Given the description of an element on the screen output the (x, y) to click on. 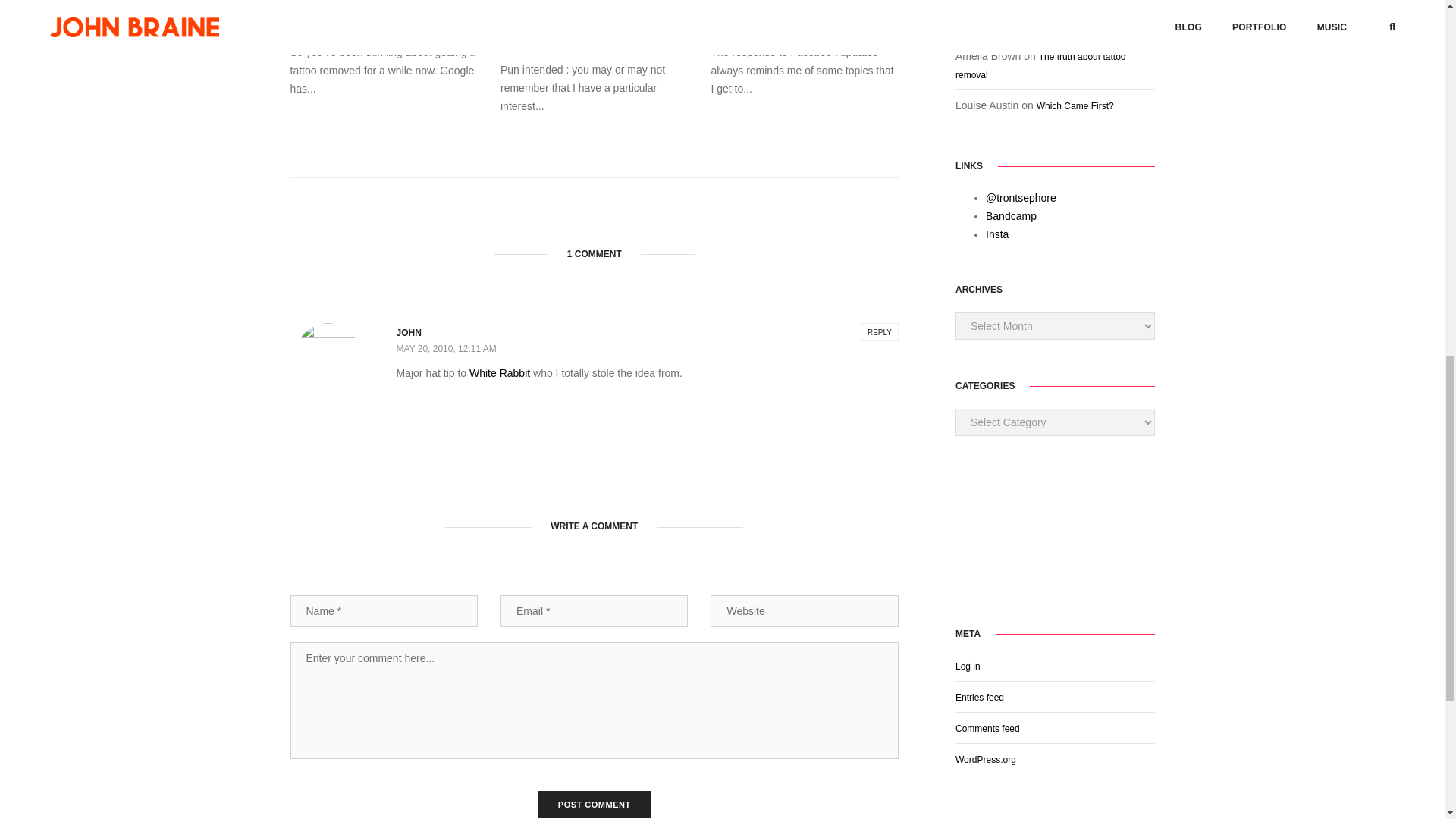
JOHN (408, 332)
White Rabbit (498, 372)
MAY 20, 2010, 12:11 AM (446, 348)
Different folks, different strokes (804, 6)
REPLY (879, 331)
Post Comment (594, 804)
The truth about tattoo removal (383, 6)
Post Comment (594, 804)
Quincy M.E. and Cameron Diaz doing the La Bamba (593, 14)
